Given the description of an element on the screen output the (x, y) to click on. 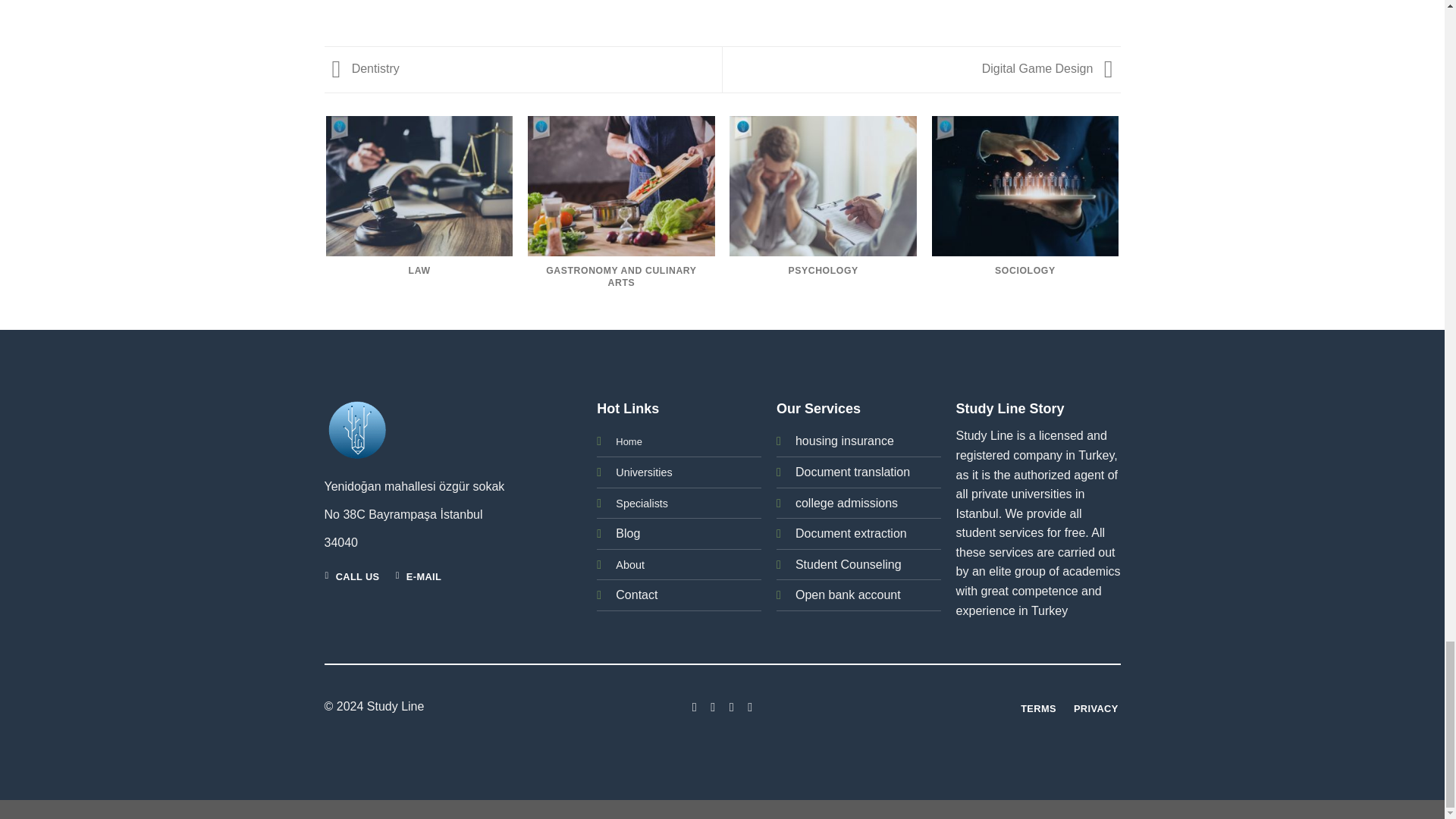
Digital Game Design (1051, 68)
DENTISTRY (1227, 209)
Digital Game Design (1051, 68)
SOCIOLOGY (1025, 209)
LAW (419, 209)
GASTRONOMY AND CULINARY ARTS (620, 215)
Dentistry (361, 68)
PSYCHOLOGY (823, 209)
Dentistry (361, 68)
